Given the description of an element on the screen output the (x, y) to click on. 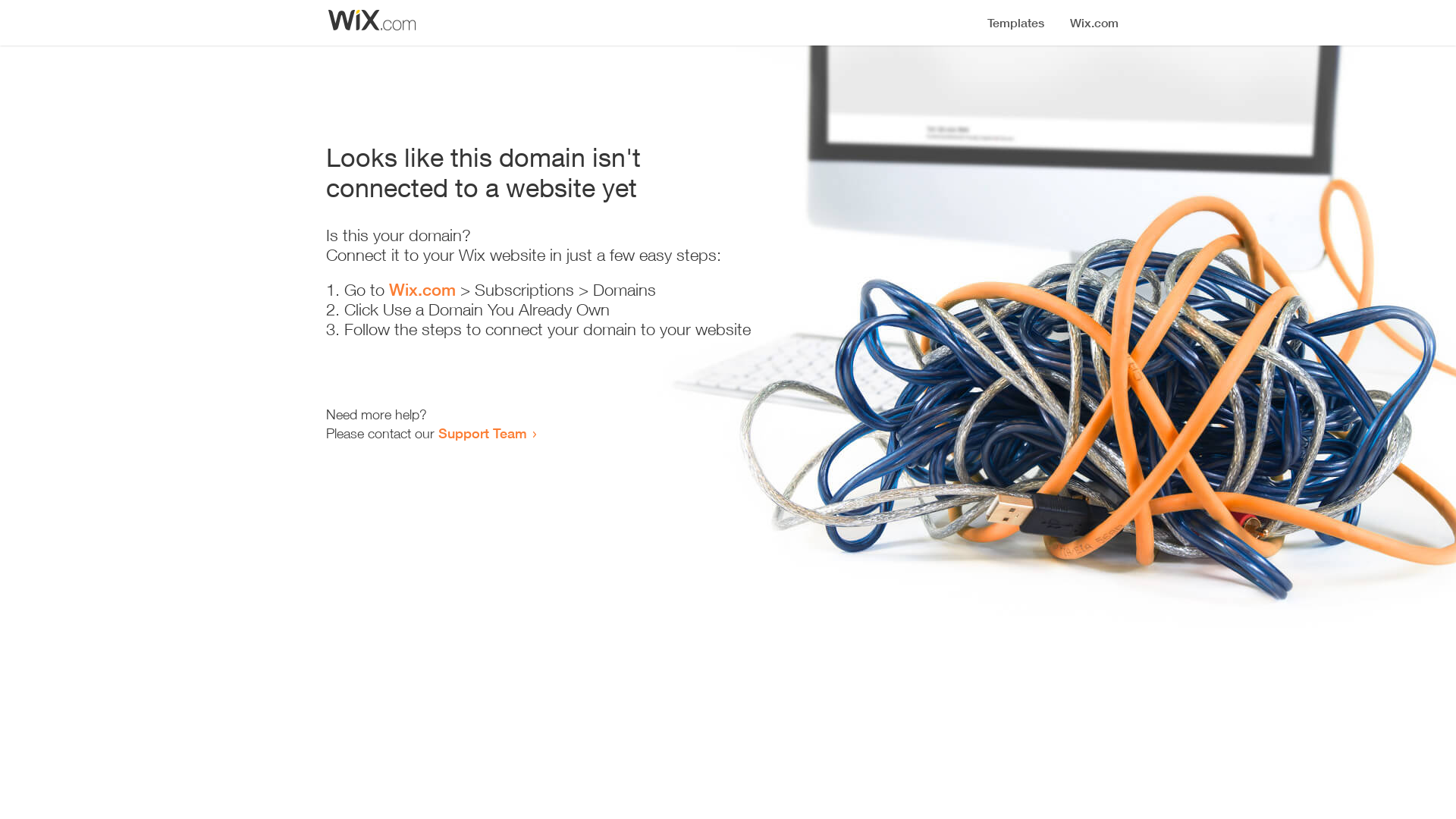
Wix.com Element type: text (422, 289)
Support Team Element type: text (482, 432)
